Given the description of an element on the screen output the (x, y) to click on. 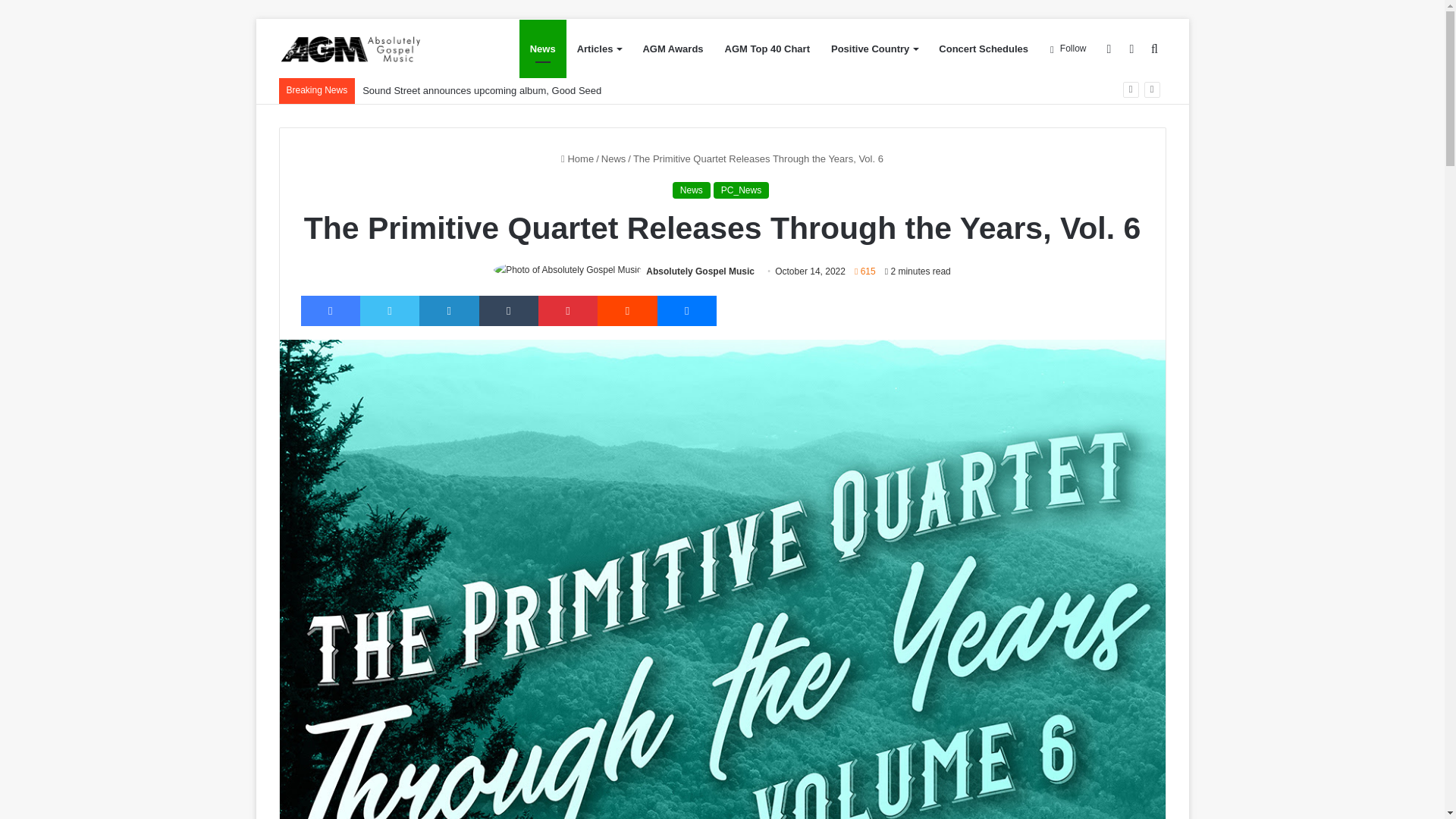
Facebook (329, 310)
Pinterest (567, 310)
AGM (373, 49)
Sound Street announces upcoming album, Good Seed (481, 90)
Follow (1068, 48)
Twitter (389, 310)
Facebook (329, 310)
Absolutely Gospel Music (700, 271)
Home (577, 158)
Absolutely Gospel Music (700, 271)
News (691, 190)
LinkedIn (449, 310)
LinkedIn (449, 310)
Twitter (389, 310)
Tumblr (508, 310)
